Given the description of an element on the screen output the (x, y) to click on. 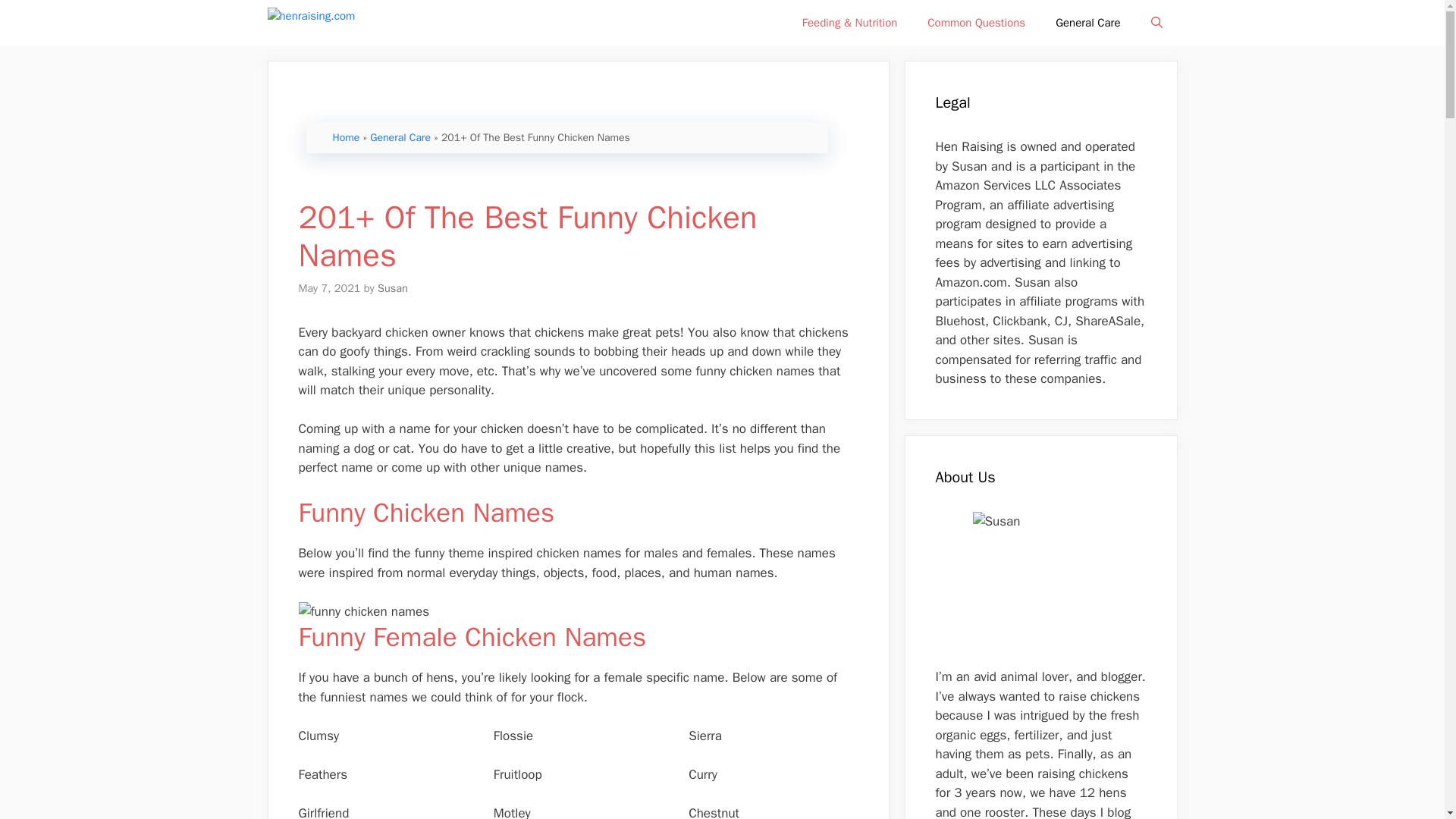
Home (345, 137)
General Care (1088, 22)
Common Questions (976, 22)
henraising.com (346, 22)
Susan (392, 287)
View all posts by Susan (392, 287)
General Care (399, 137)
